Given the description of an element on the screen output the (x, y) to click on. 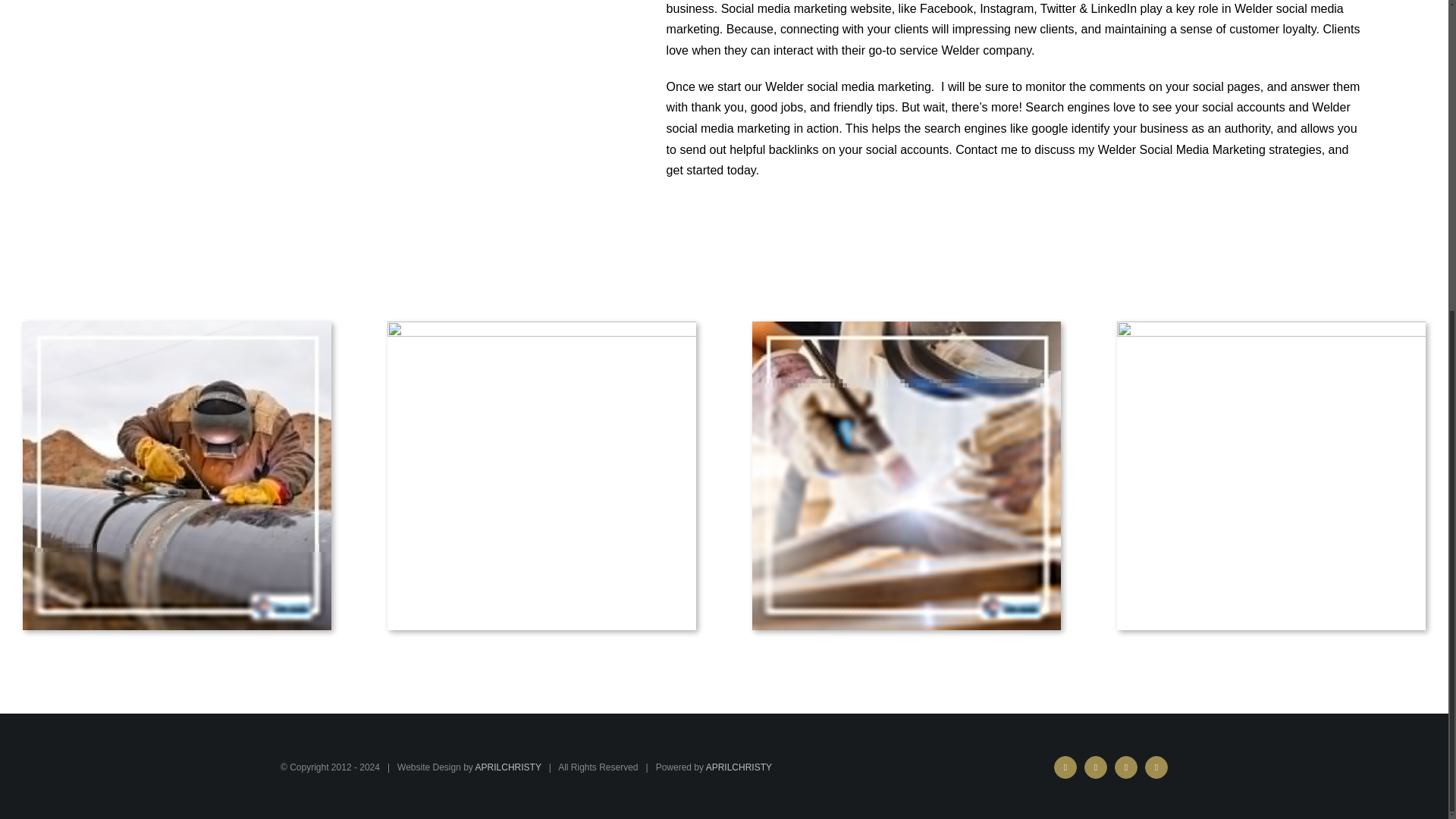
Instagram (1126, 766)
X (1095, 766)
Pinterest (1155, 766)
APRILCHRISTY (508, 767)
X (1095, 766)
Remain Unbroken Forever Welding Social Media Marketing Post (1270, 475)
Instagram (1126, 766)
APRILCHRISTY (738, 767)
Facebook (1065, 766)
